Given the description of an element on the screen output the (x, y) to click on. 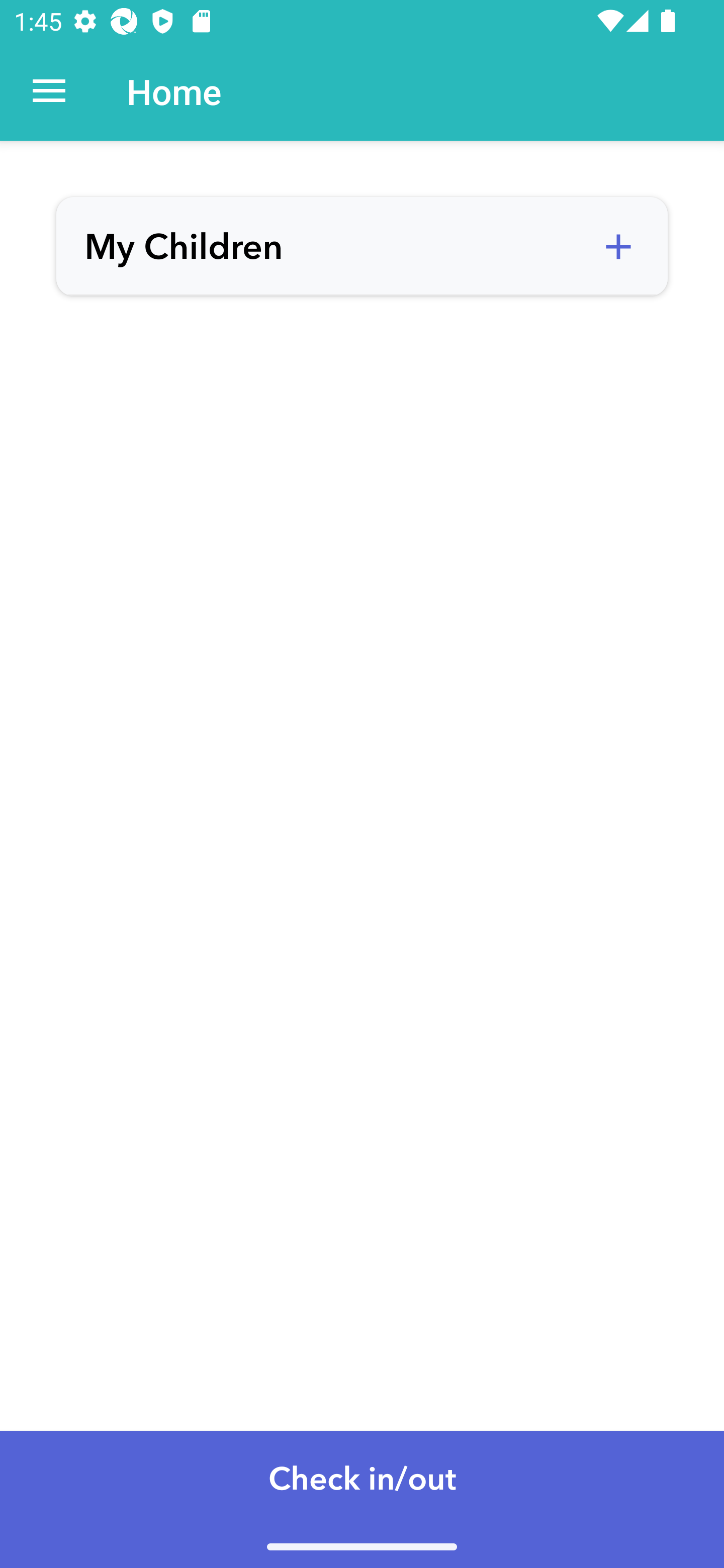
Open navigation drawer (49, 91)
Add a Child (618, 246)
Check in/out (362, 1499)
